Given the description of an element on the screen output the (x, y) to click on. 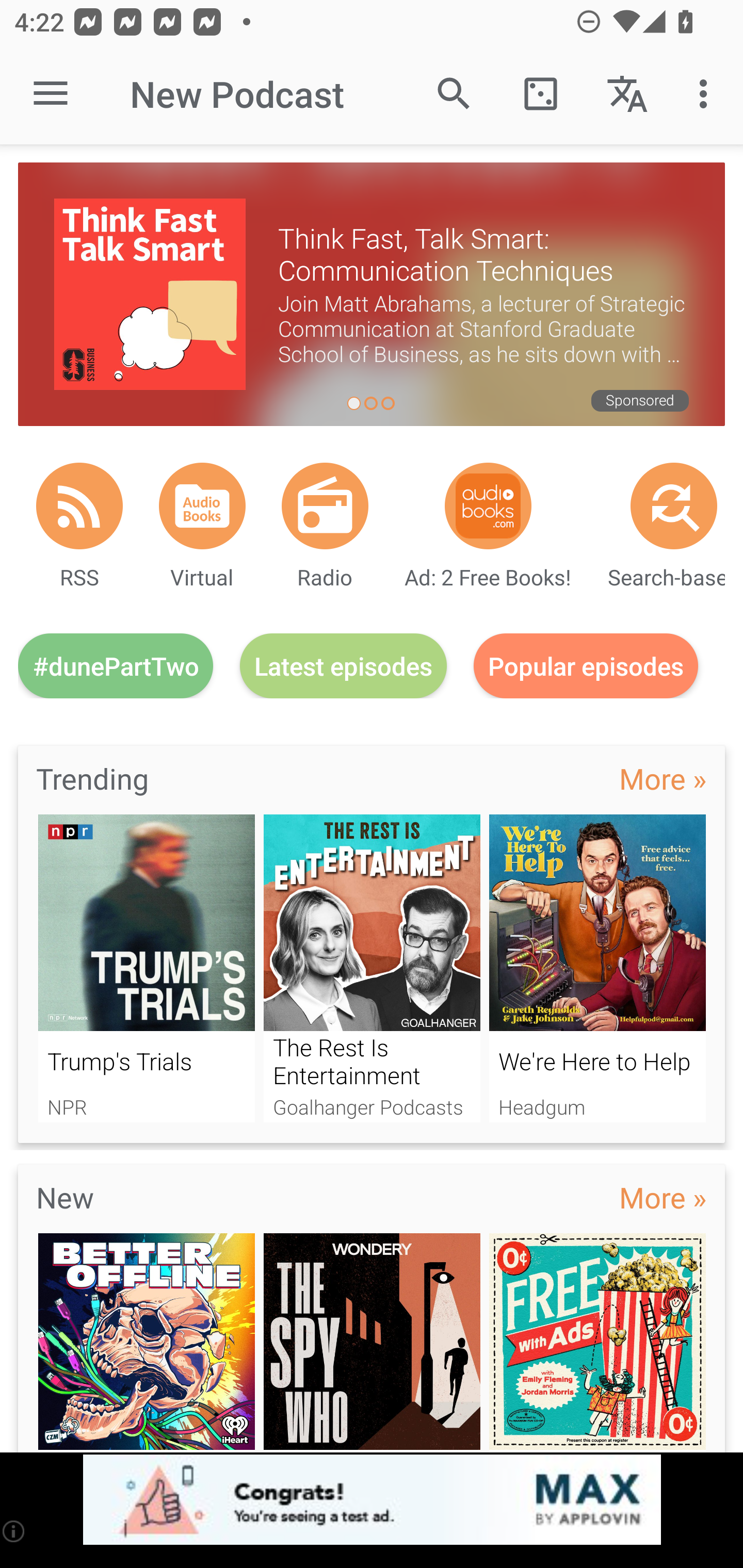
Open navigation sidebar (50, 93)
Search (453, 93)
Random pick (540, 93)
Podcast languages (626, 93)
More options (706, 93)
RSS (79, 505)
Virtual (202, 505)
Radio (324, 505)
Search-based (673, 505)
#dunePartTwo (115, 665)
Latest episodes (342, 665)
Popular episodes (586, 665)
More » (662, 778)
Trump's Trials NPR (145, 967)
The Rest Is Entertainment Goalhanger Podcasts (371, 967)
We're Here to Help Headgum (596, 967)
More » (662, 1196)
Better Offline (145, 1342)
The Spy Who (371, 1342)
Free With Ads (596, 1342)
app-monetization (371, 1500)
(i) (14, 1531)
